Given the description of an element on the screen output the (x, y) to click on. 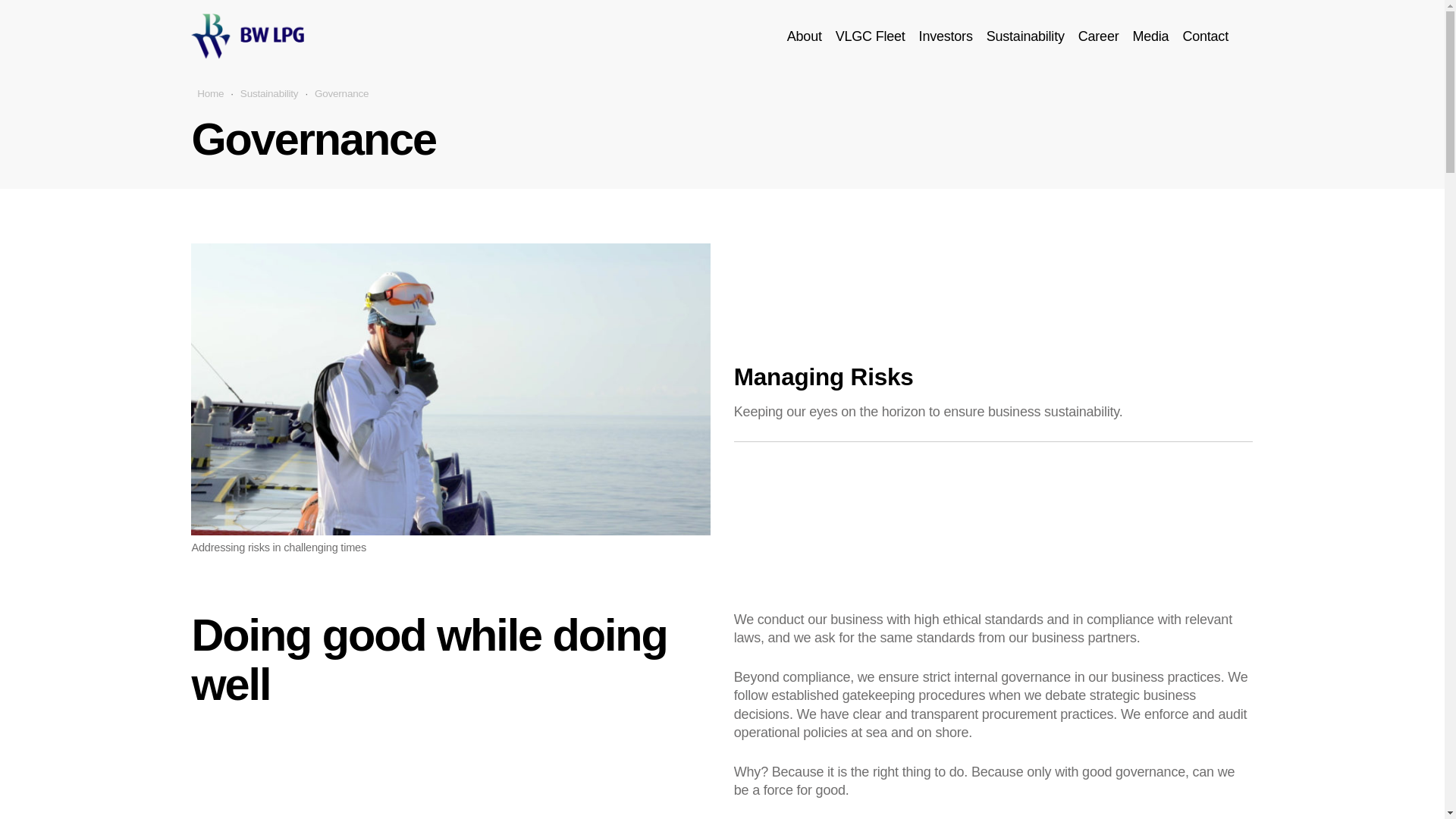
Investors (945, 36)
Sustainability (1025, 36)
VLGC Fleet (870, 36)
VLGC Fleet (870, 36)
Investors (945, 36)
